Given the description of an element on the screen output the (x, y) to click on. 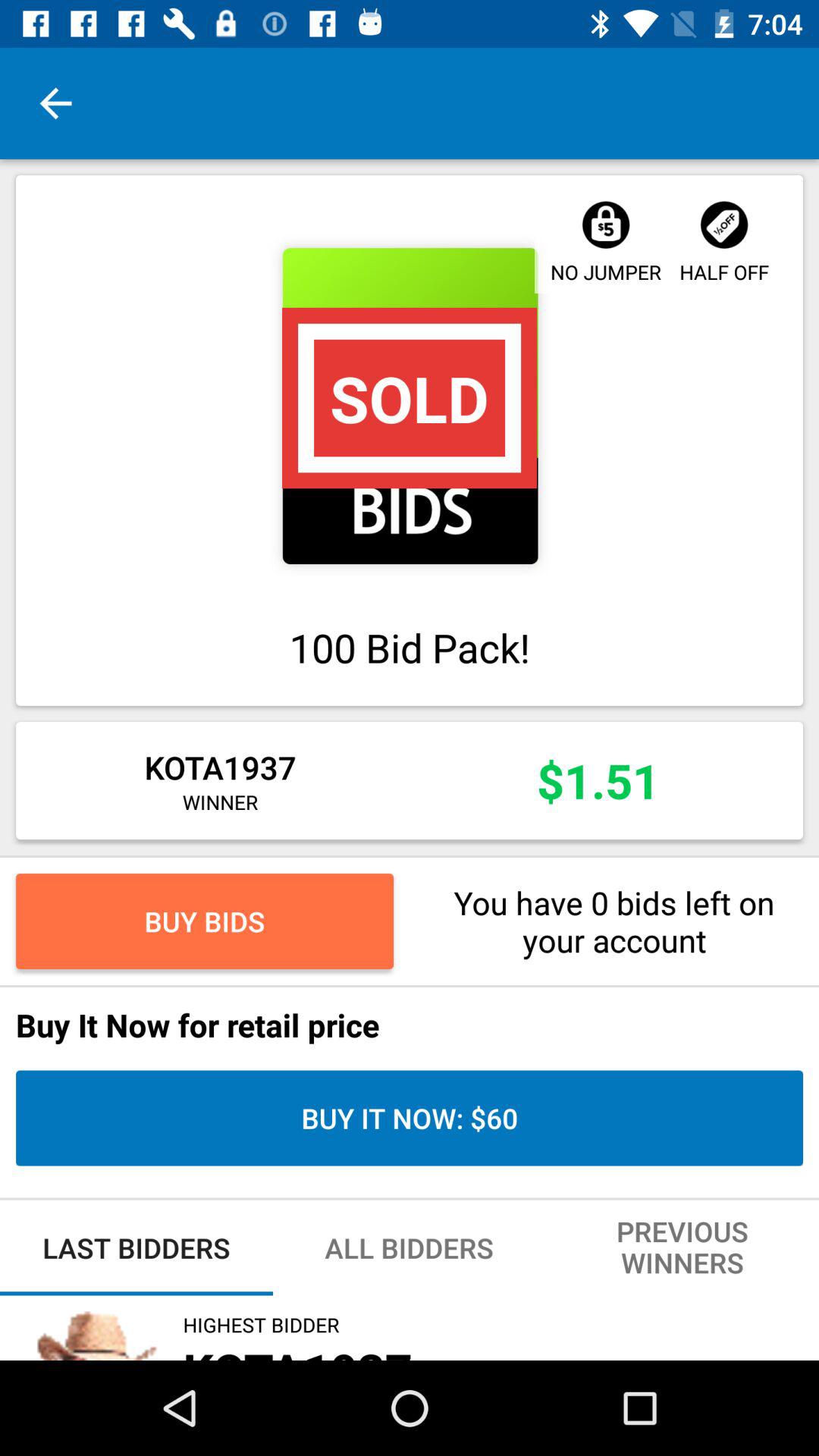
select icon to the left of you have 0 (204, 921)
